Given the description of an element on the screen output the (x, y) to click on. 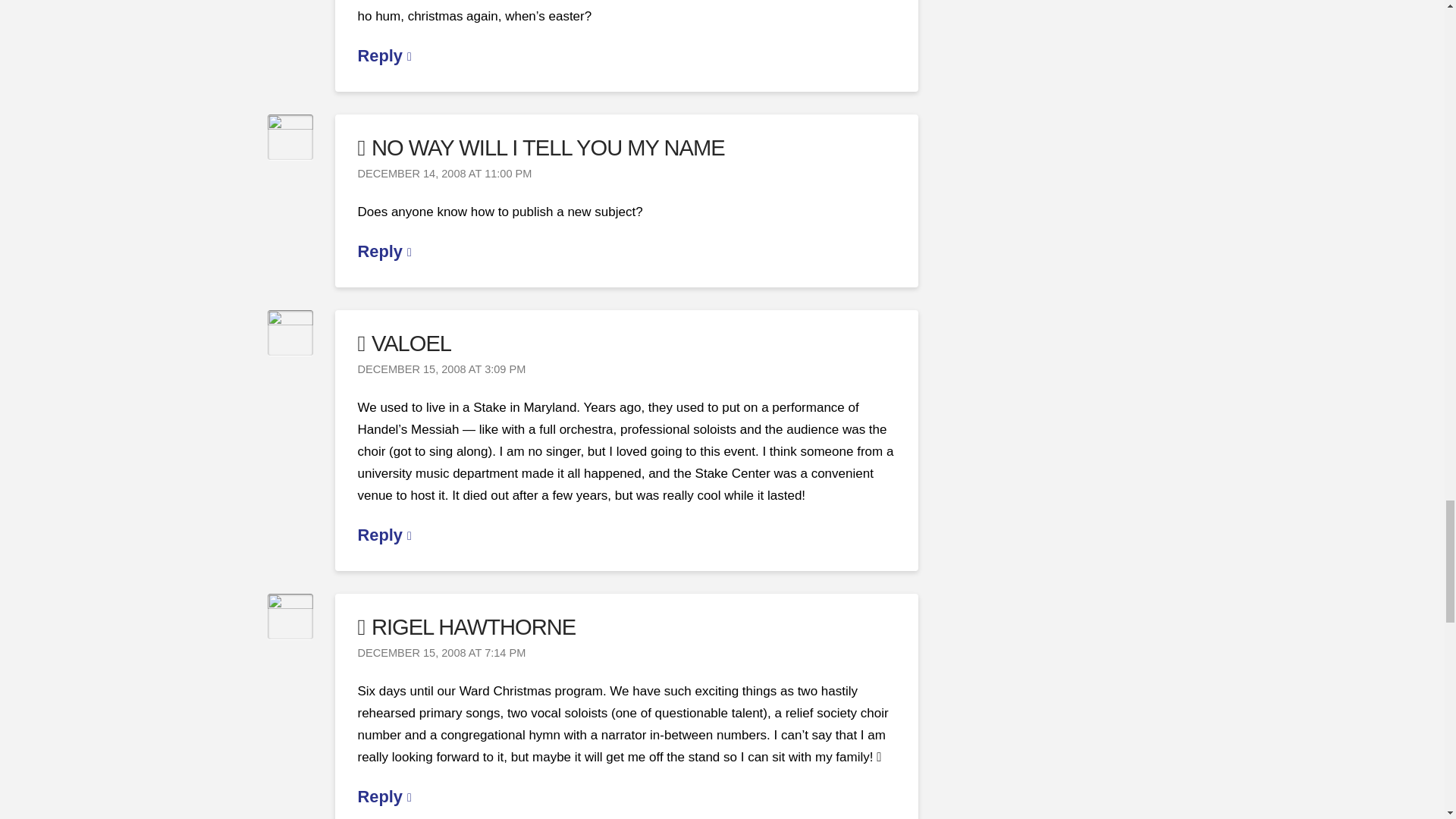
VALOEL (404, 343)
Reply (385, 55)
DECEMBER 14, 2008 AT 11:00 PM (445, 173)
Reply (385, 251)
